Given the description of an element on the screen output the (x, y) to click on. 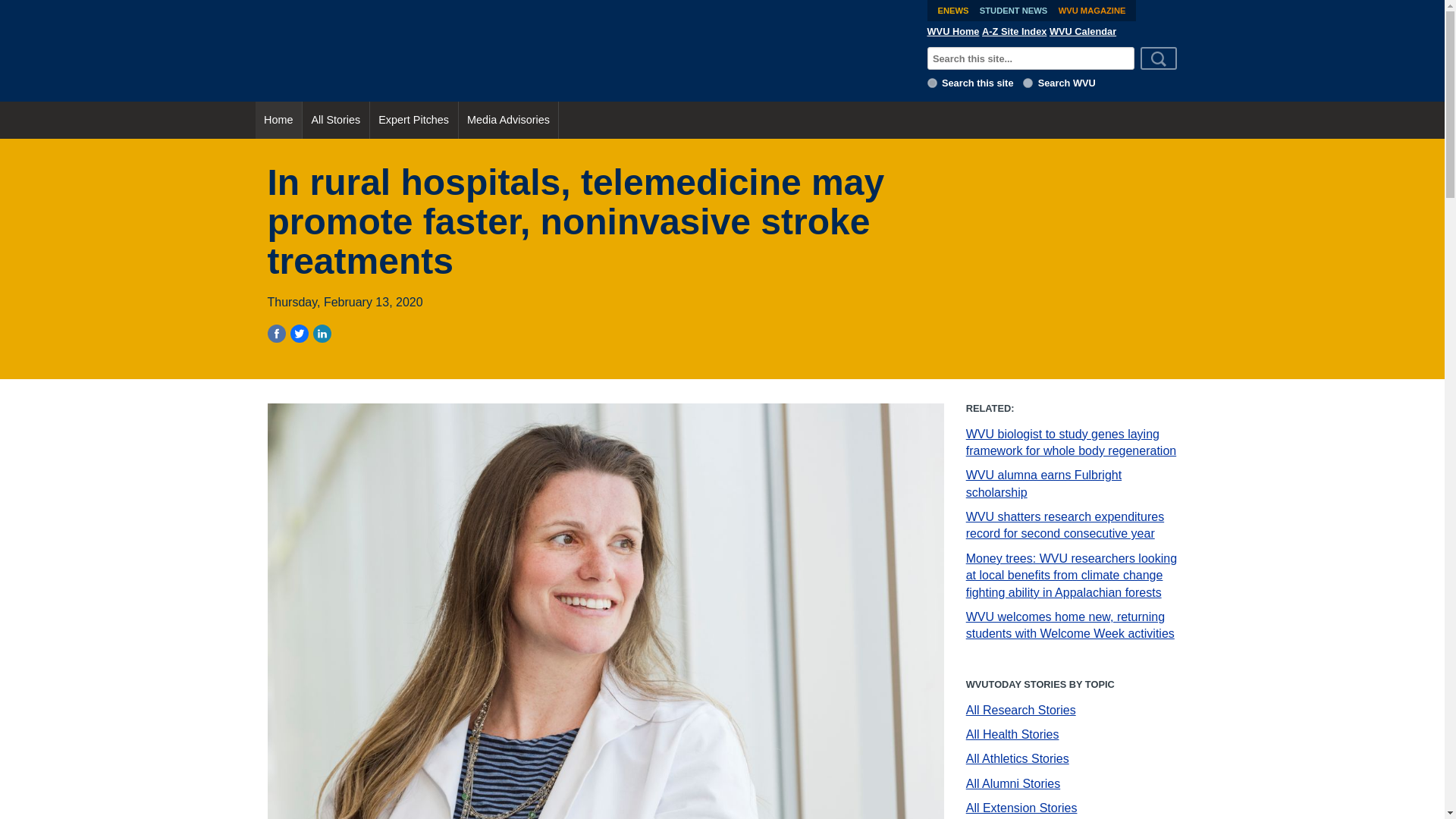
Media Advisories (508, 119)
Home (277, 119)
Expert Pitches (413, 119)
A-Z Site Index (1013, 31)
Search (1158, 57)
Search (1158, 57)
wvutoday.wvu.edu (932, 82)
ENEWS (952, 10)
